Given the description of an element on the screen output the (x, y) to click on. 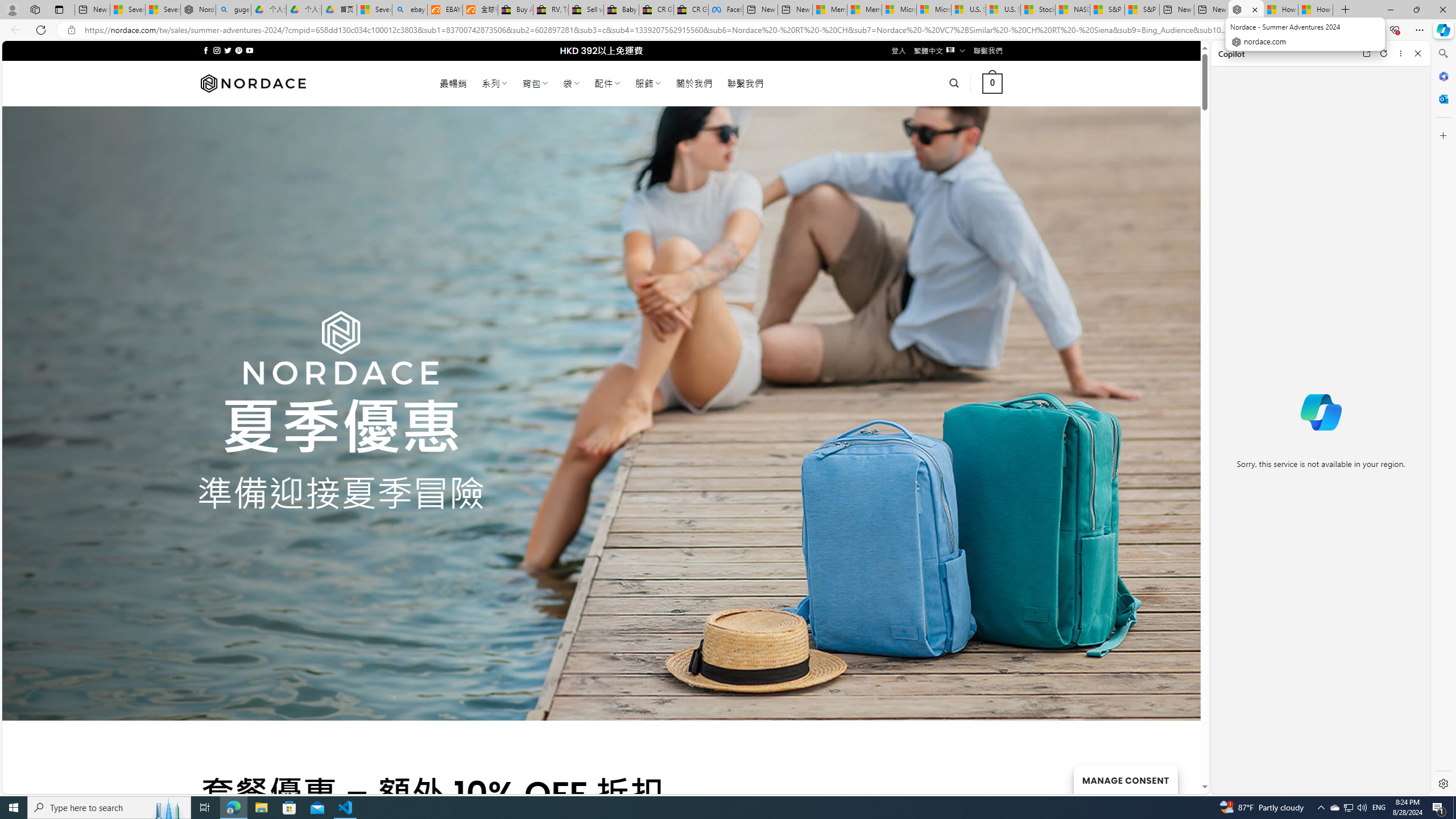
Buy Auto Parts & Accessories | eBay (515, 9)
This site has coupons! Shopping in Microsoft Edge (1268, 29)
MANAGE CONSENT (1125, 779)
Follow on Facebook (205, 50)
